Given the description of an element on the screen output the (x, y) to click on. 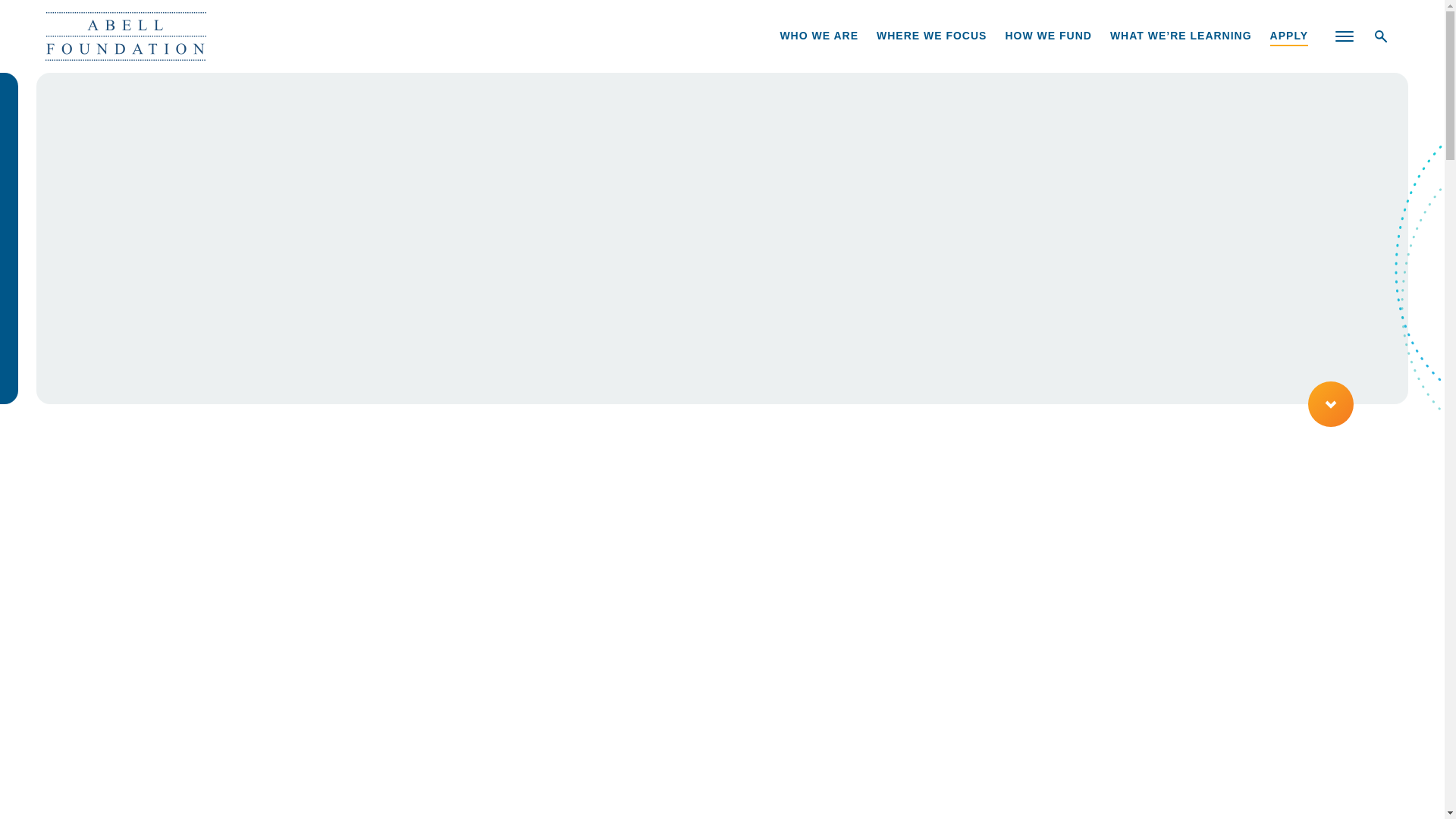
HOW WE FUND (1047, 36)
WHERE WE FOCUS (931, 36)
APPLY (1288, 35)
WHO WE ARE (818, 36)
